Given the description of an element on the screen output the (x, y) to click on. 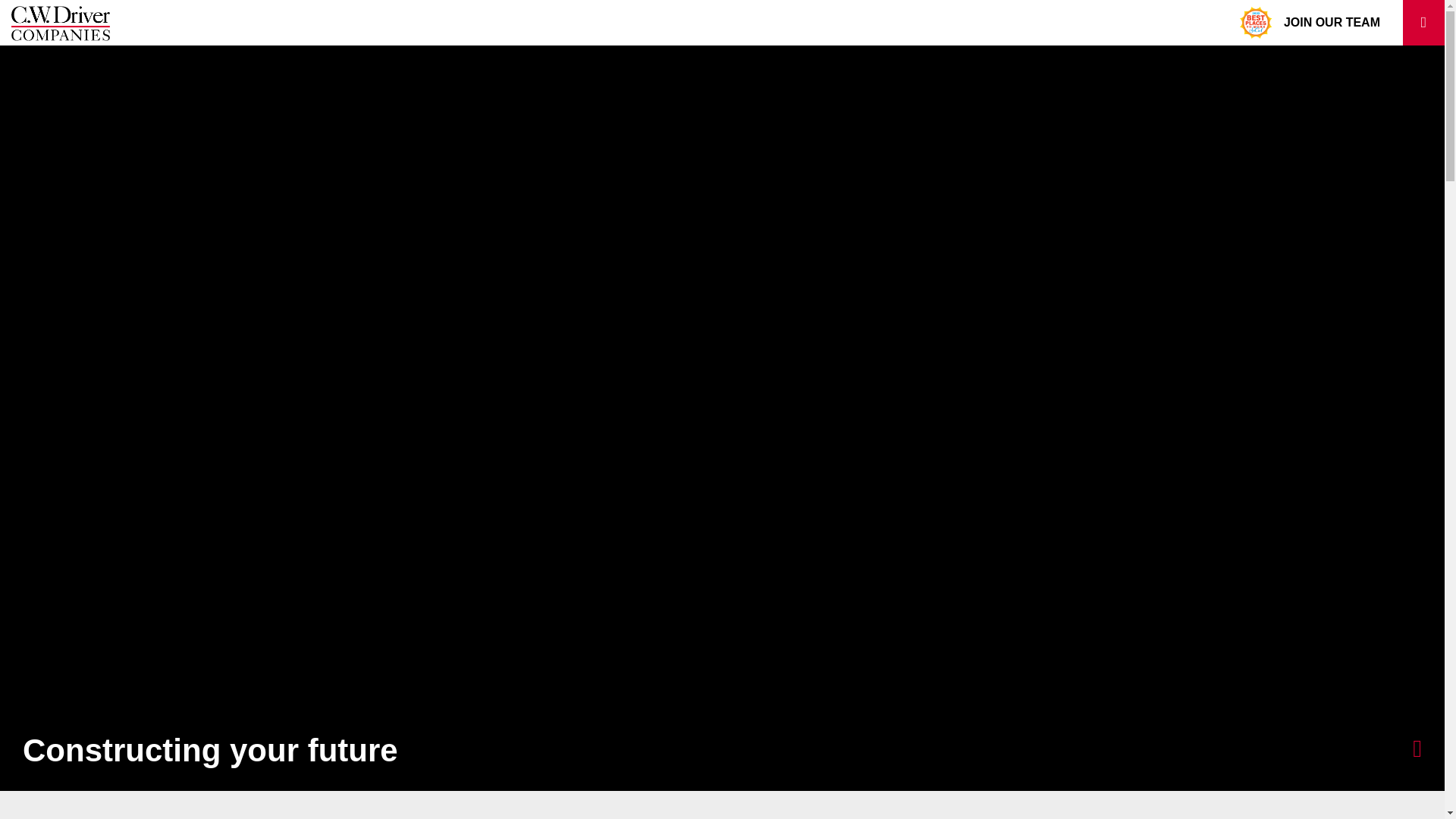
C.W. Driver (60, 22)
C.W. Driver (60, 22)
